Given the description of an element on the screen output the (x, y) to click on. 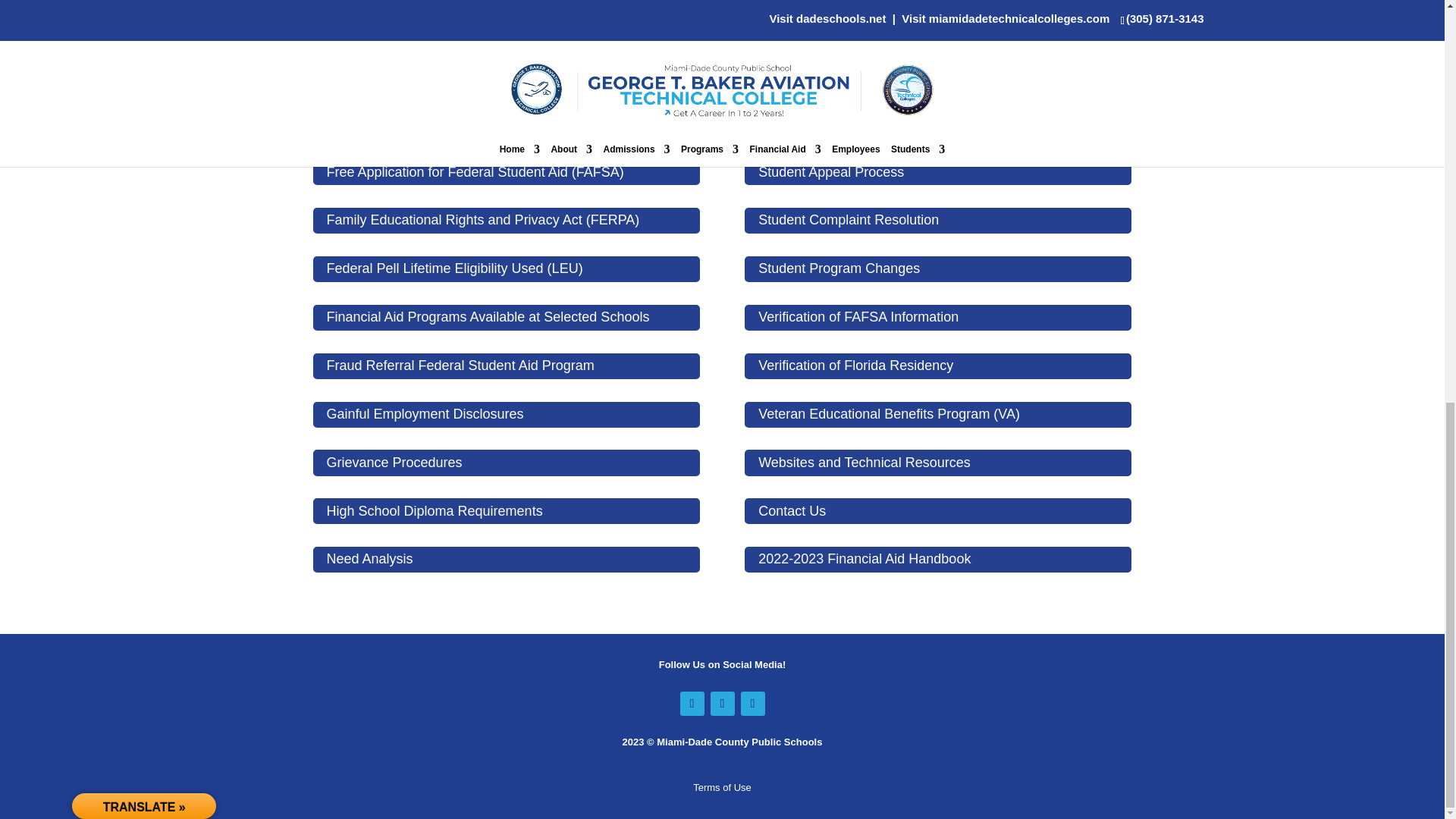
Follow on Instagram (751, 703)
Follow on Facebook (691, 703)
Follow on X (721, 703)
